Given the description of an element on the screen output the (x, y) to click on. 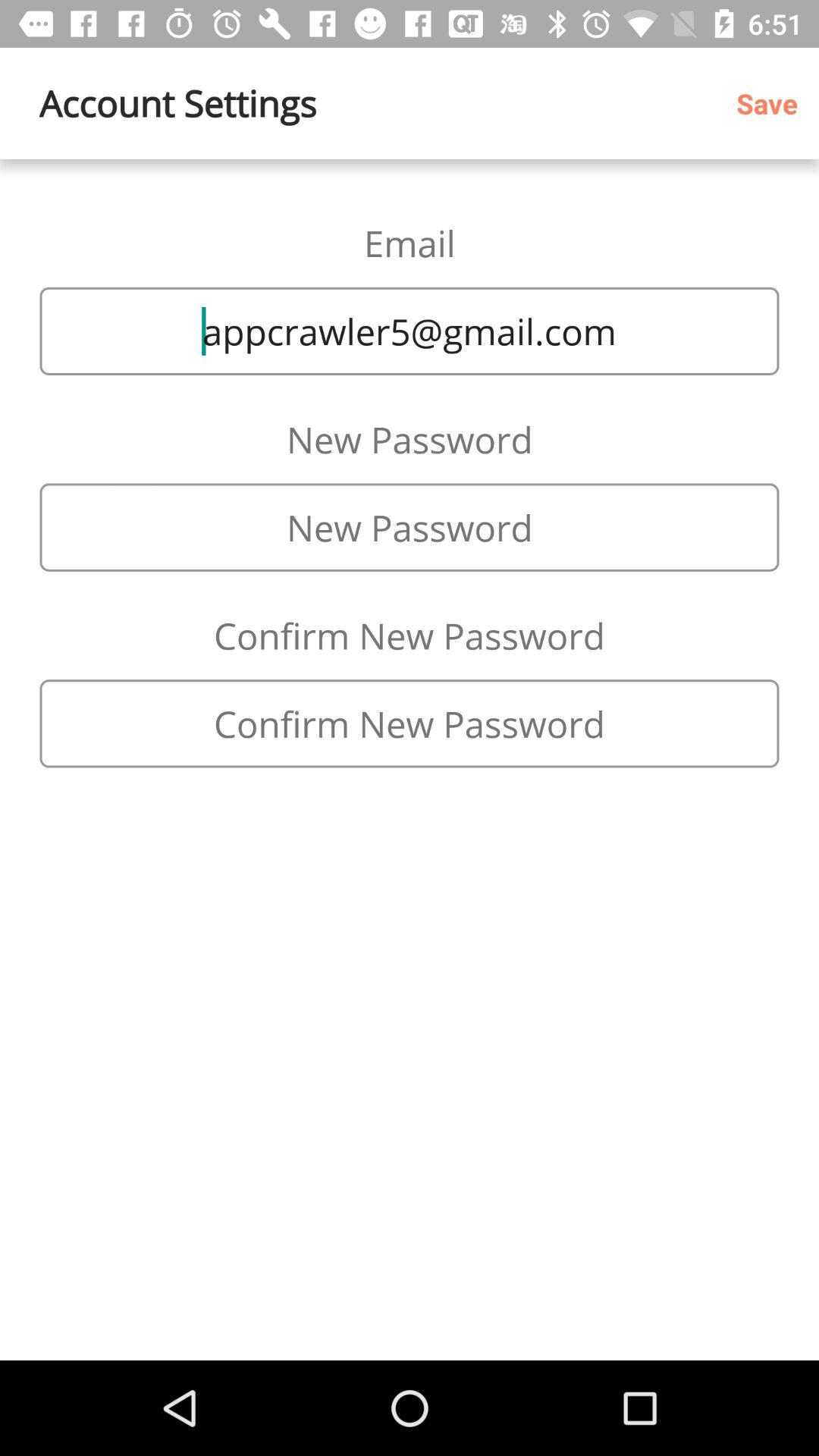
select appcrawler5@gmail.com item (409, 331)
